Given the description of an element on the screen output the (x, y) to click on. 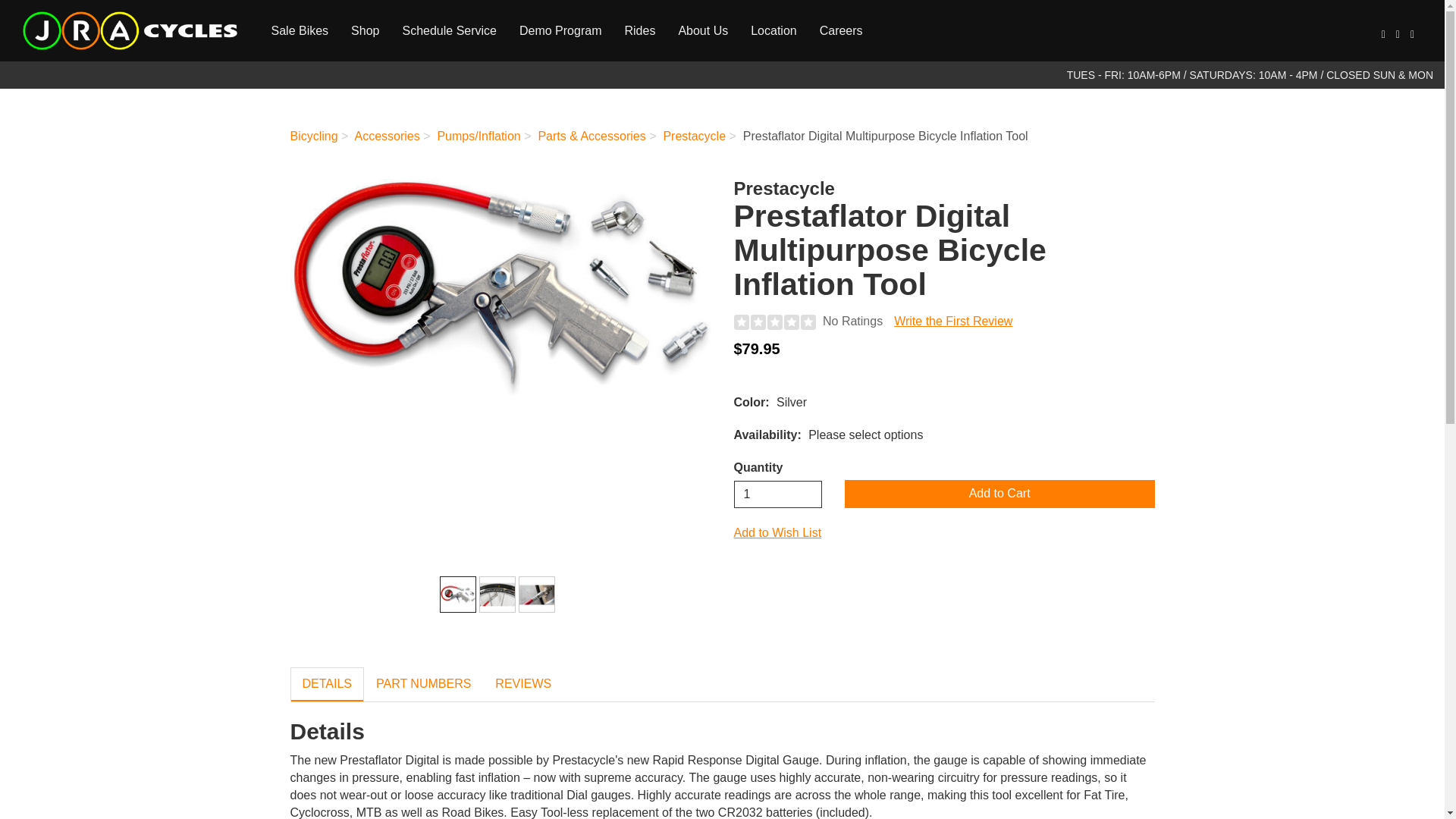
PayPal Message 1 (943, 373)
Shop (364, 30)
1 (777, 493)
Color: Silver (458, 594)
JRA Cycles Home Page (130, 30)
Sale Bikes (299, 30)
